Given the description of an element on the screen output the (x, y) to click on. 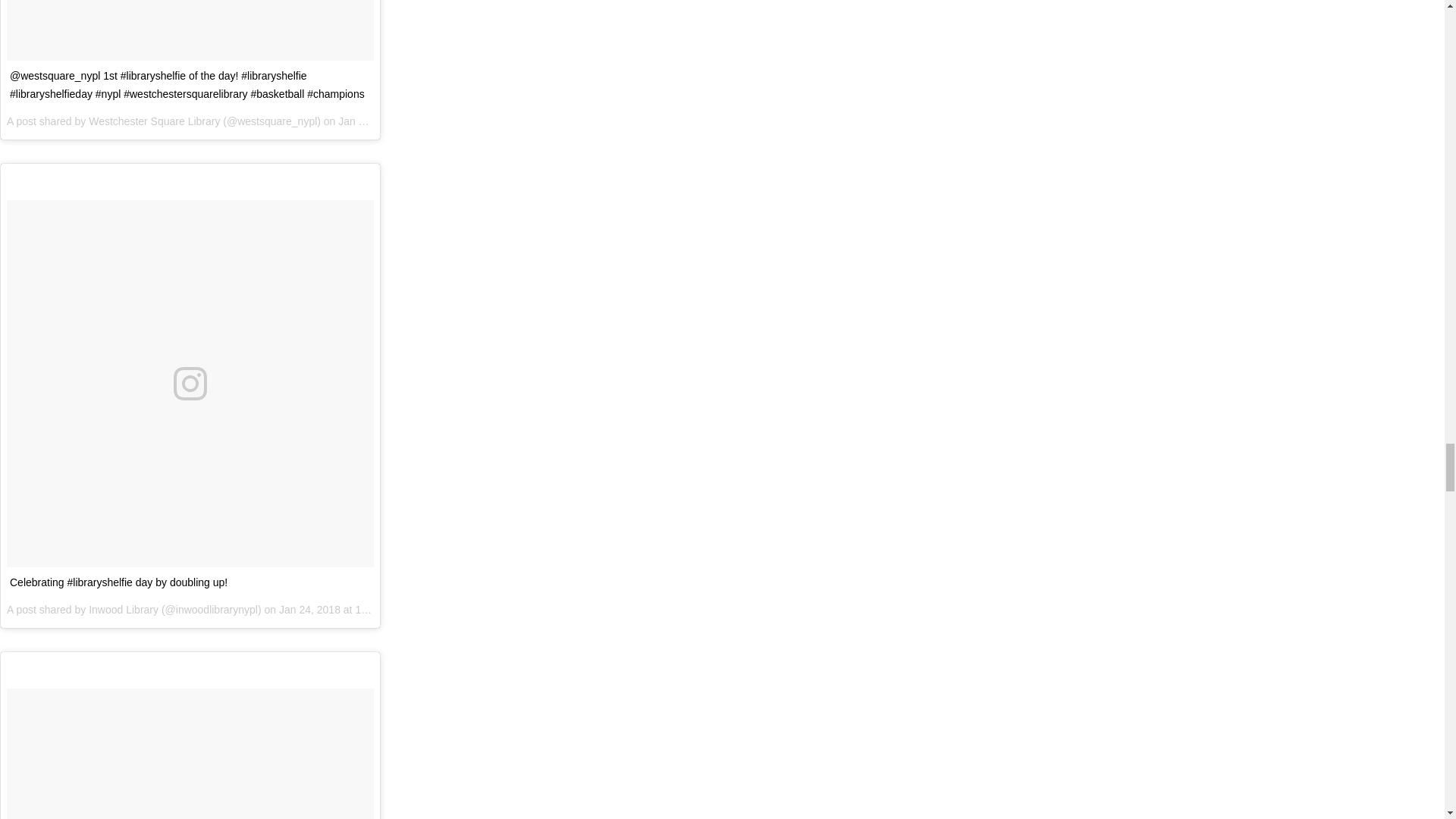
Inwood Library (123, 609)
Westchester Square Library (153, 121)
